Given the description of an element on the screen output the (x, y) to click on. 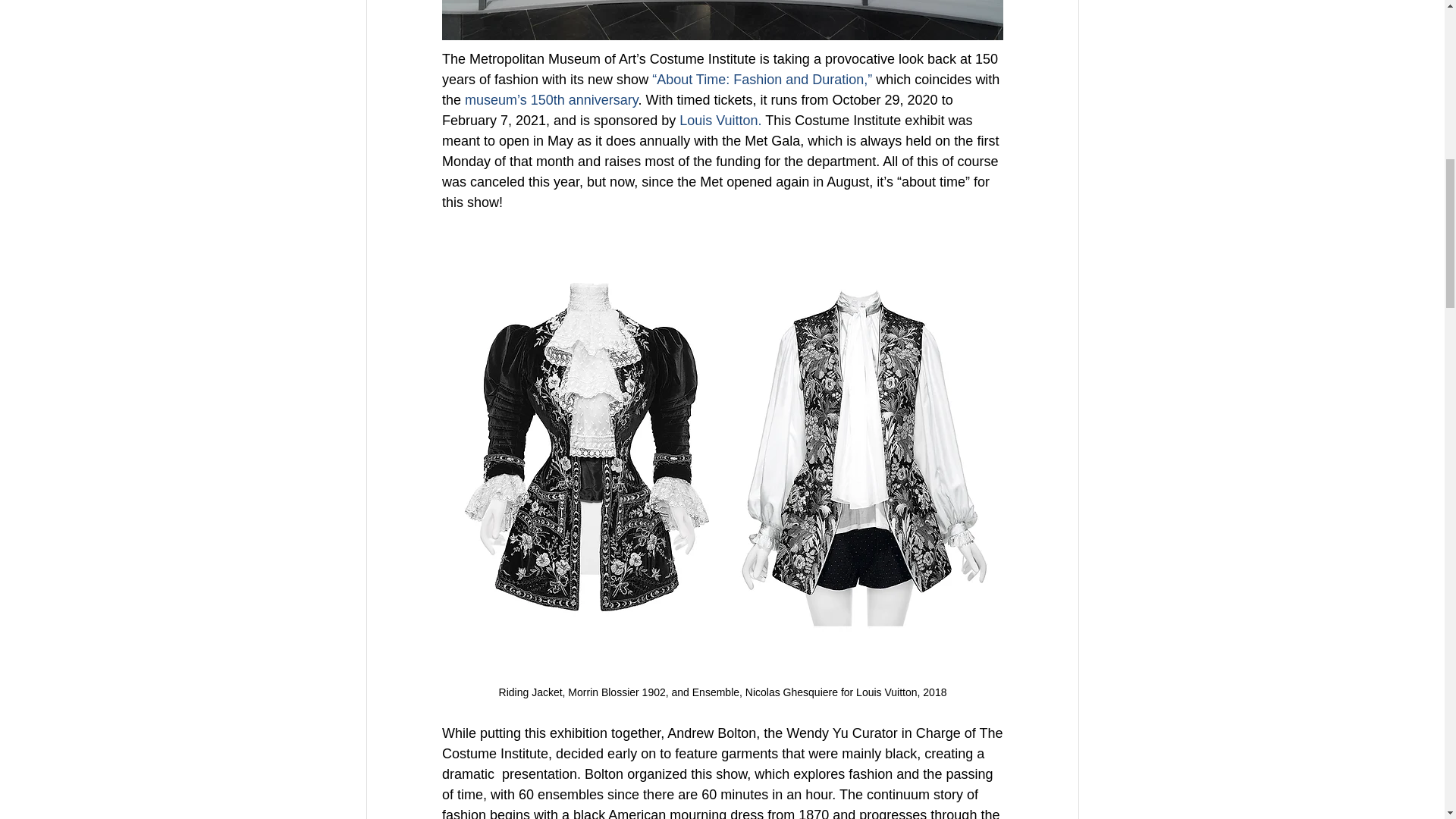
Louis Vuitton (718, 120)
